Given the description of an element on the screen output the (x, y) to click on. 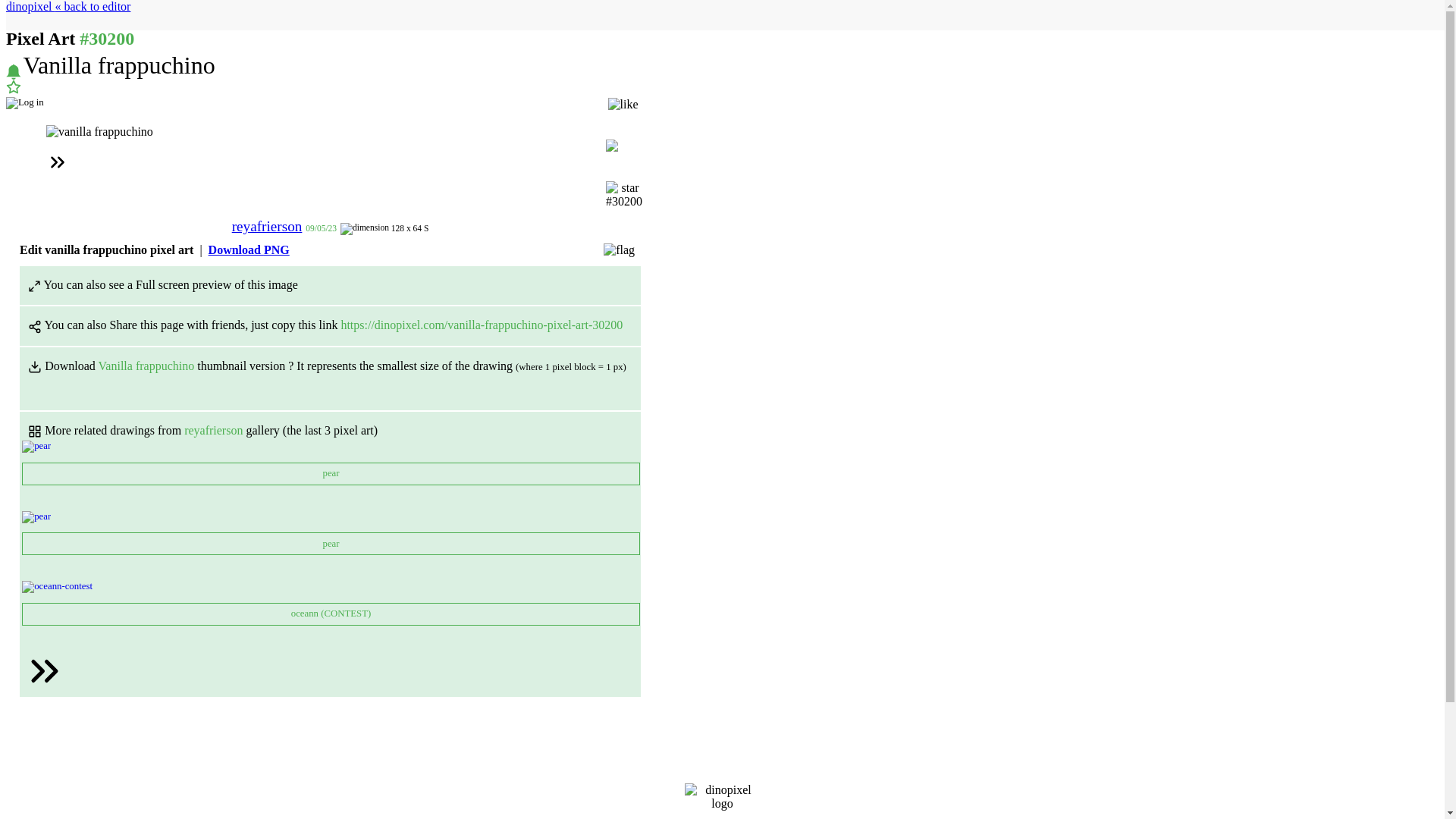
Download PNG (248, 249)
Report (619, 250)
Related pixel art : pear (35, 517)
copy this link (305, 324)
pear (330, 544)
reyafrierson pixel art : vanilla frappuchino (99, 131)
pear (330, 473)
Edit vanilla frappuchino pixel art (106, 249)
Load vanilla frappuchino pixel Art (99, 131)
Grid size (364, 228)
